Given the description of an element on the screen output the (x, y) to click on. 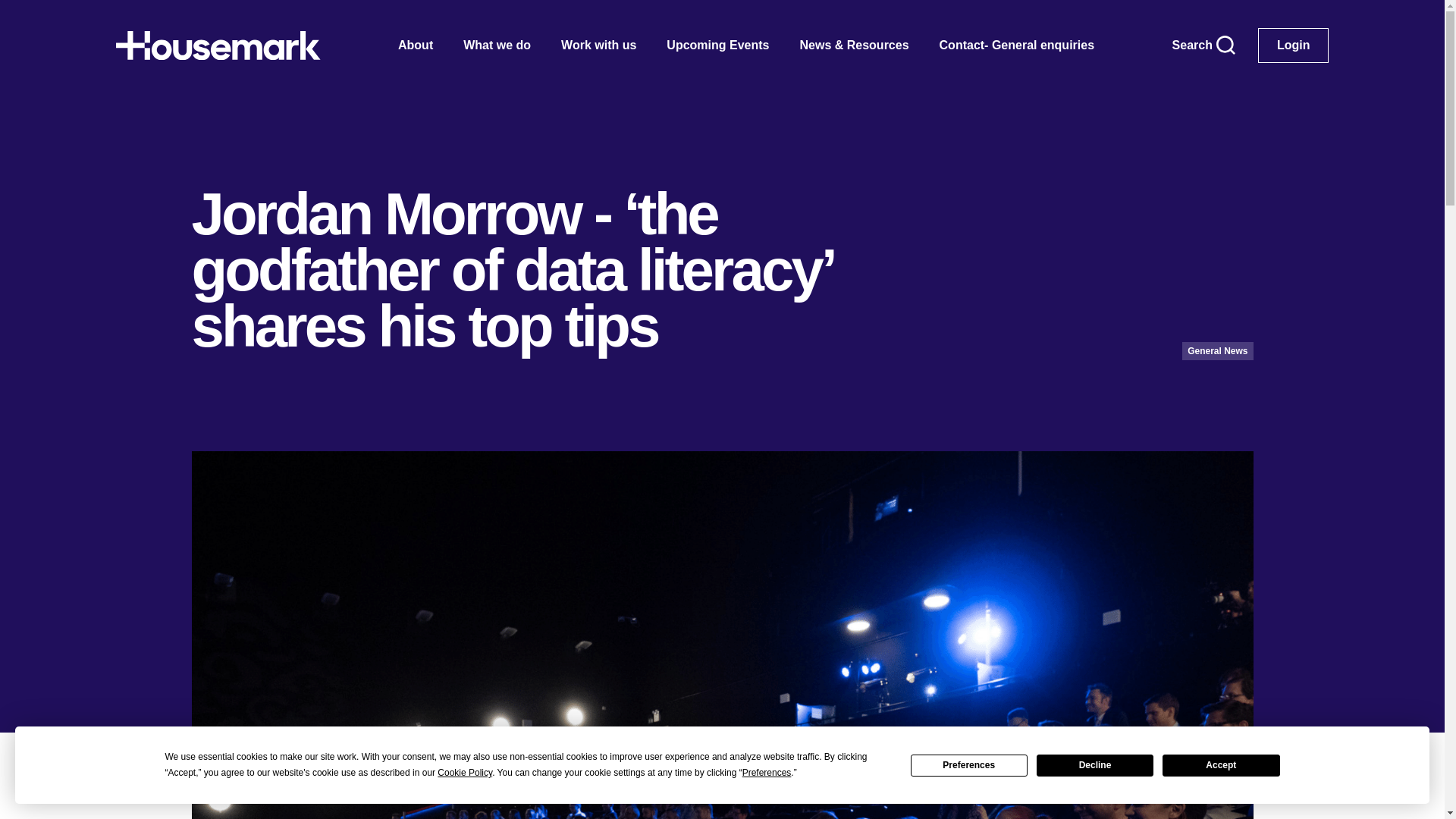
Decline (1094, 764)
Housemark (217, 45)
Accept (1220, 764)
Preferences (969, 764)
What we do (497, 45)
About (415, 45)
